Given the description of an element on the screen output the (x, y) to click on. 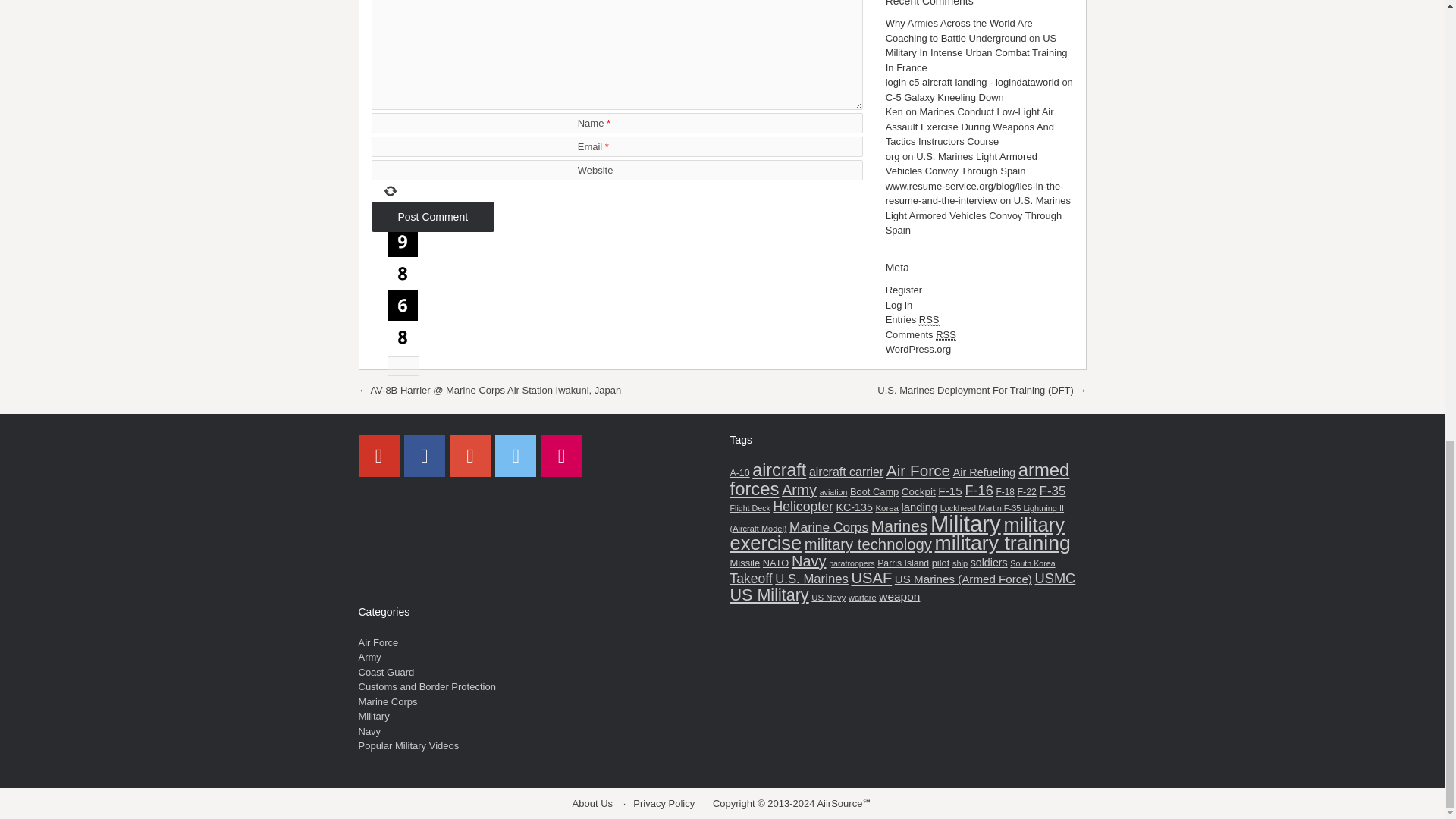
org (892, 156)
Post Comment (433, 216)
Really Simple Syndication (928, 319)
AIIRSOURCE on Flickr (560, 455)
Post Comment (433, 216)
US Military In Intense Urban Combat Training In France (976, 52)
AIIRSOURCE on Facebook (424, 455)
AIIRSOURCE on Twitter (515, 455)
C-5 Galaxy Kneeling Down (944, 97)
U.S. Marines Light Armored Vehicles Convoy Through Spain (960, 163)
Really Simple Syndication (946, 335)
login c5 aircraft landing - logindataworld (972, 81)
AIIRSOURCE on Youtube (378, 455)
